Given the description of an element on the screen output the (x, y) to click on. 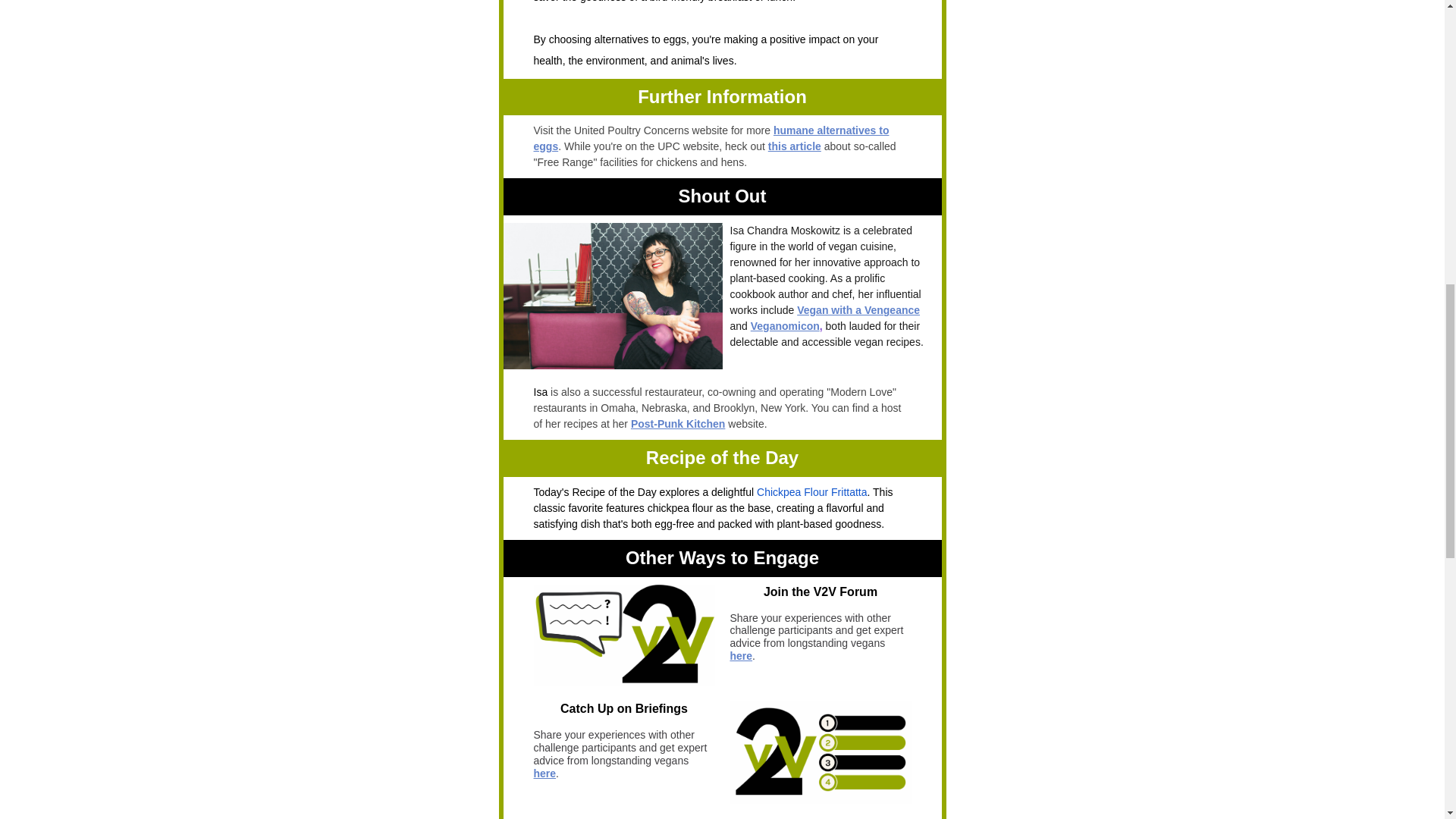
humane alternatives to eggs (711, 138)
here (740, 655)
here (545, 773)
Vegan with a Vengeance (858, 309)
Veganomicon (785, 326)
Post-Punk Kitchen (677, 423)
this article (794, 146)
Chickpea Flour Frittatta (812, 491)
